Given the description of an element on the screen output the (x, y) to click on. 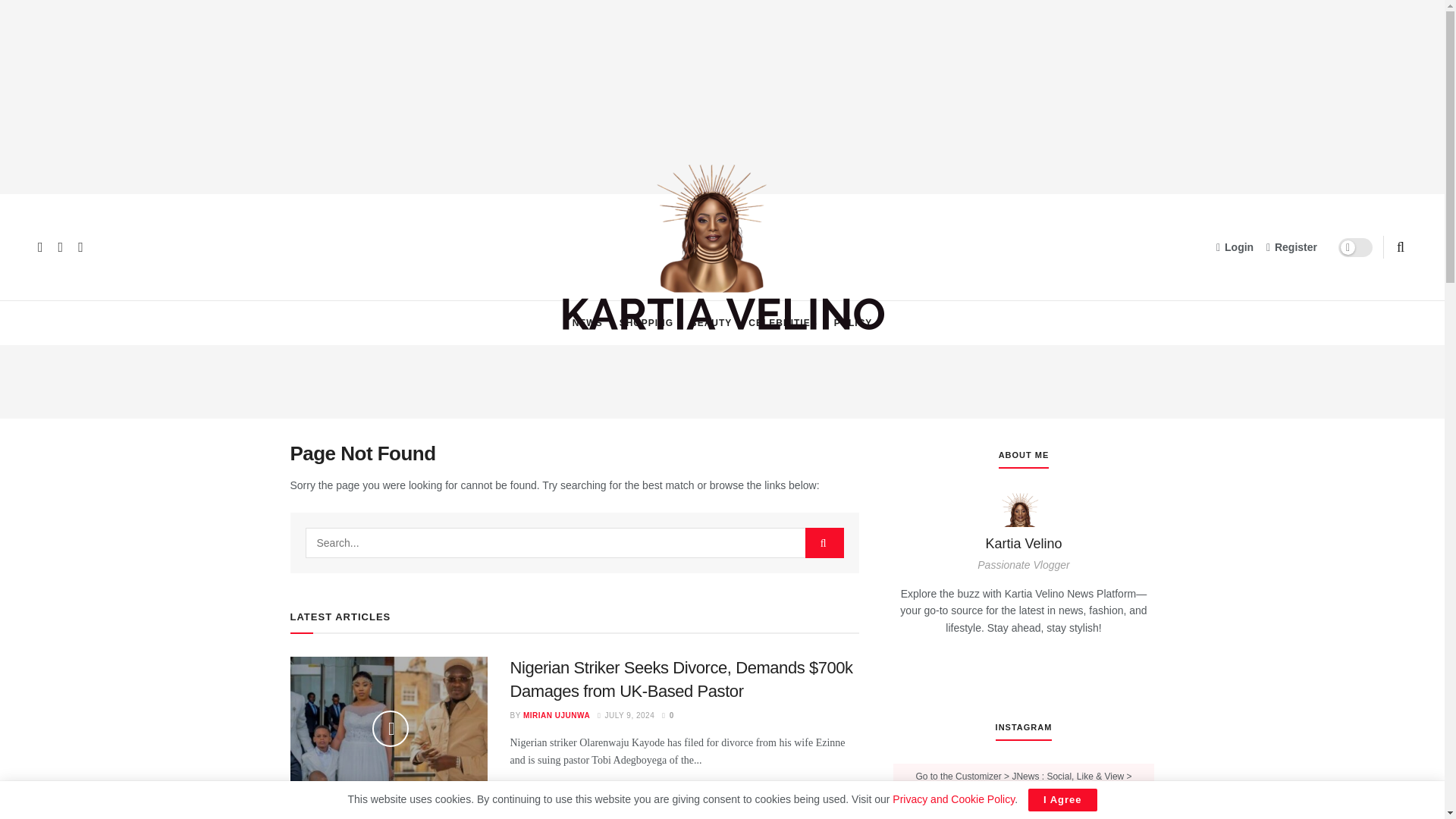
0 (668, 715)
MIRIAN UJUNWA (555, 715)
SHOPPING (646, 322)
BEAUTY (711, 322)
JULY 9, 2024 (624, 715)
CELEBRITIES (782, 322)
Login (1234, 247)
Register (1291, 247)
